Given the description of an element on the screen output the (x, y) to click on. 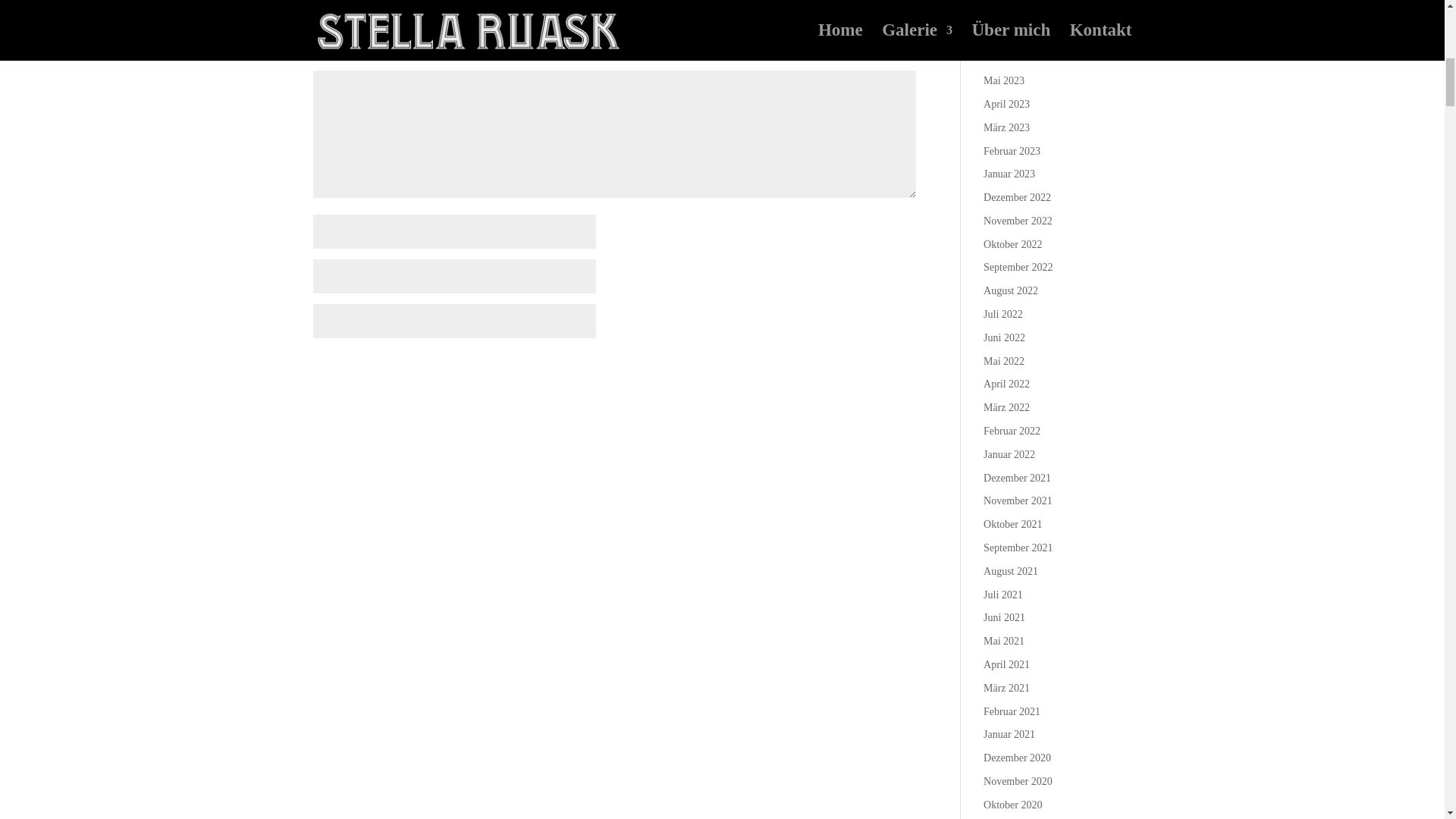
Juli 2023 (1003, 34)
August 2023 (1011, 10)
Kommentar absenden (832, 367)
Kommentar absenden (832, 367)
